Given the description of an element on the screen output the (x, y) to click on. 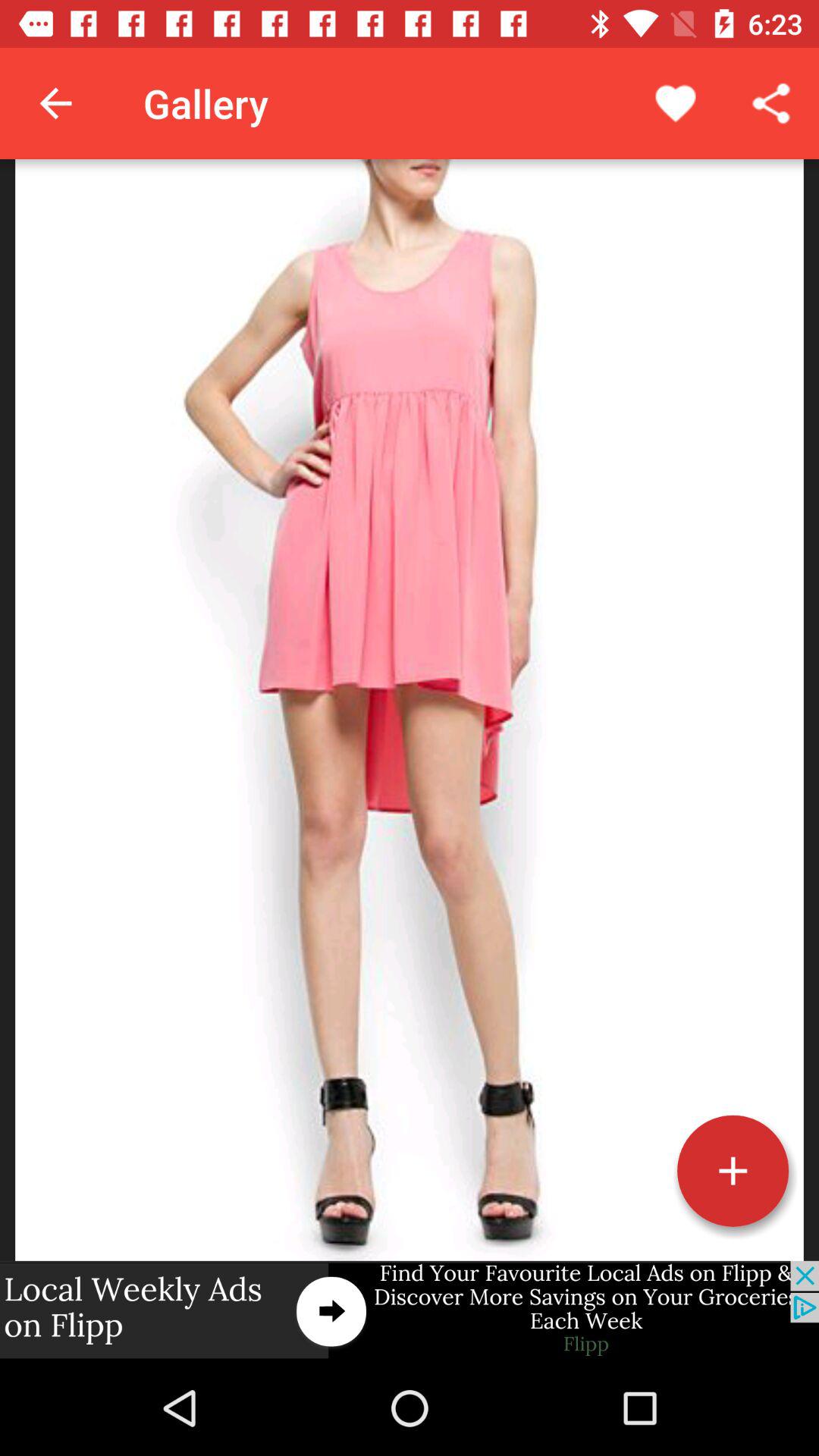
this button more (733, 1171)
